Given the description of an element on the screen output the (x, y) to click on. 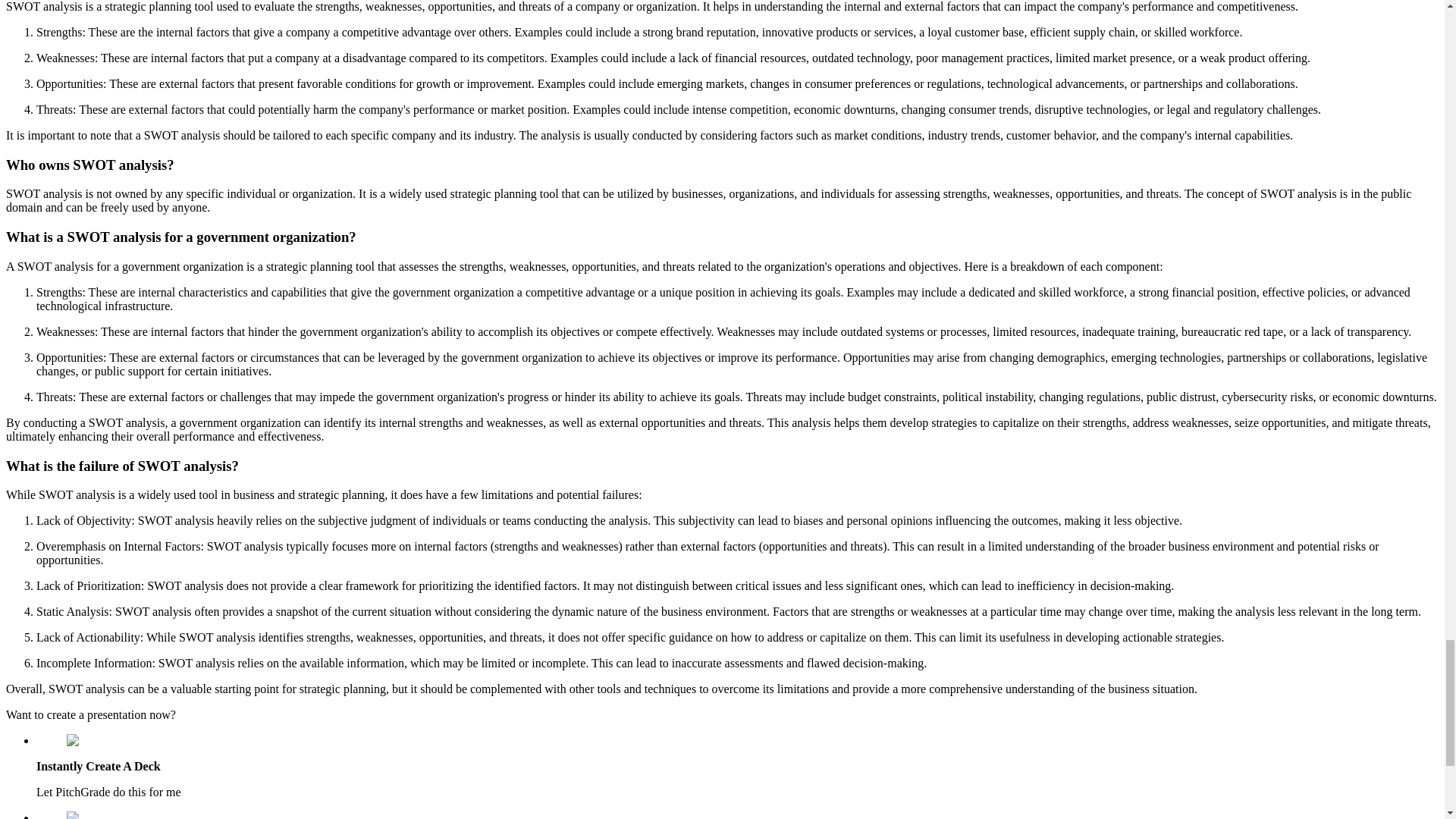
smile (85, 815)
instantly (93, 740)
